Given the description of an element on the screen output the (x, y) to click on. 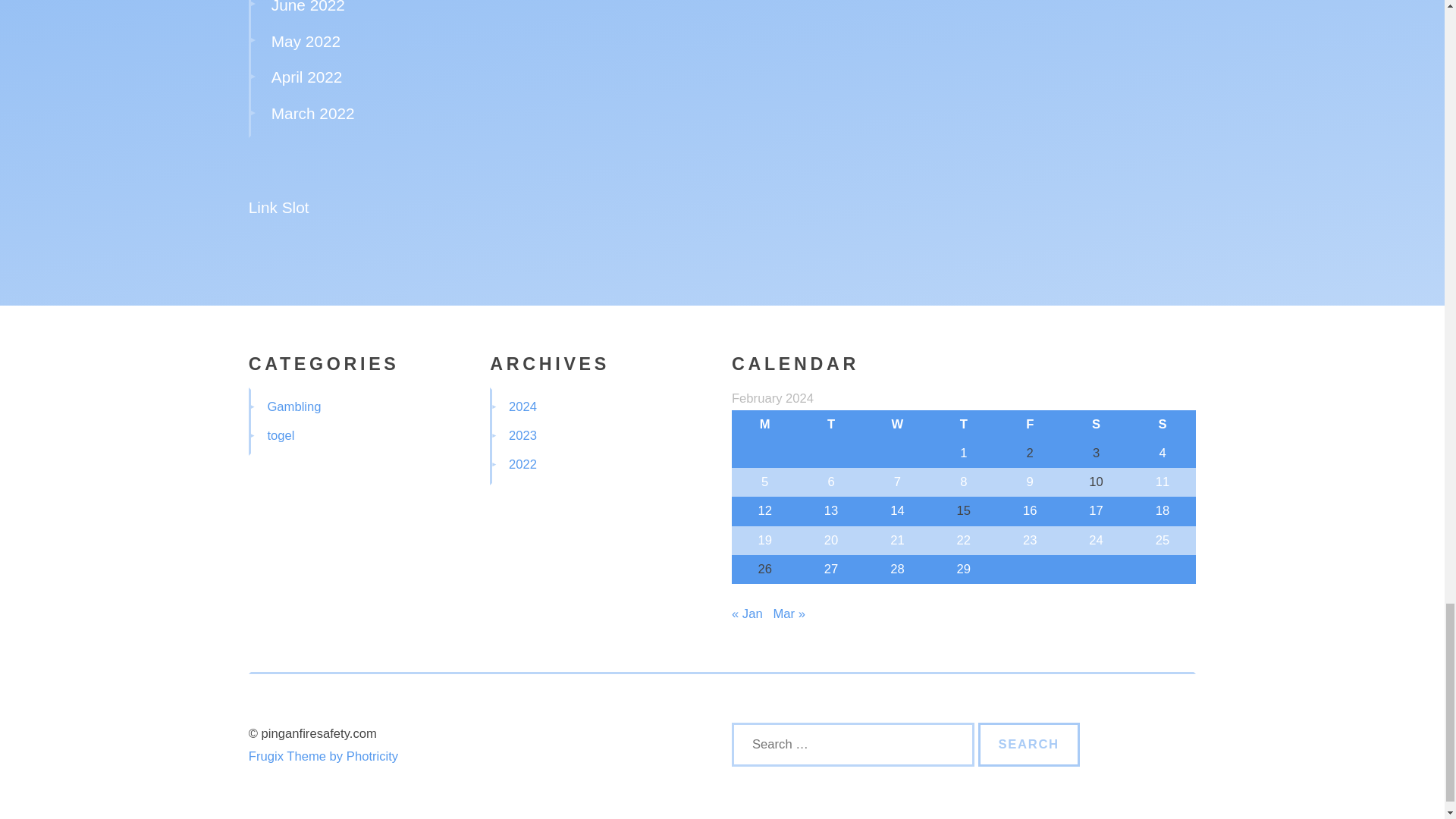
Saturday (1095, 423)
Friday (1029, 423)
Monday (764, 423)
May 2022 (305, 40)
Wednesday (897, 423)
Sunday (1162, 423)
Tuesday (830, 423)
Thursday (962, 423)
Search (1029, 744)
June 2022 (307, 6)
